Given the description of an element on the screen output the (x, y) to click on. 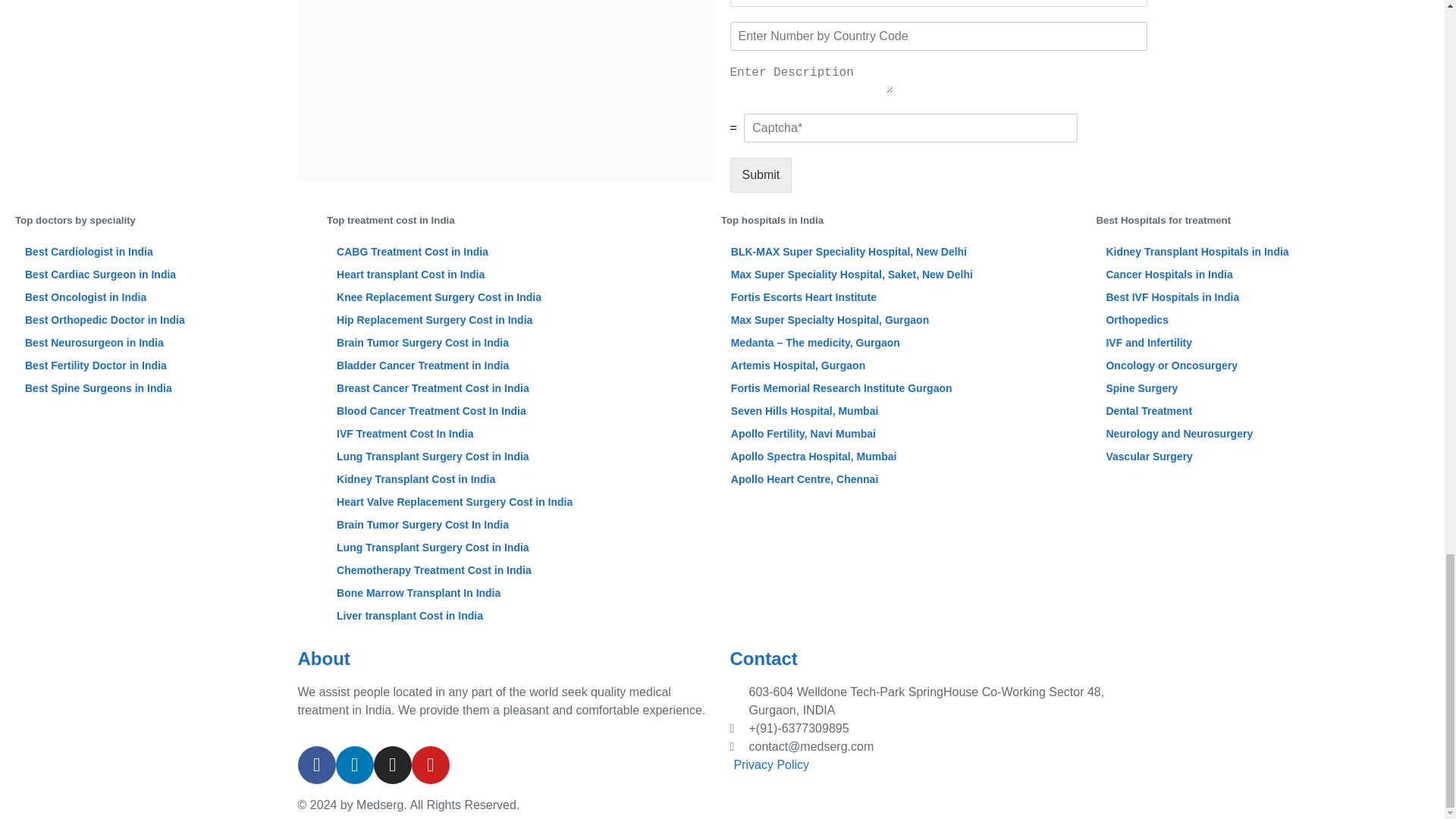
Best Hospitals for treatment (1262, 220)
About (505, 659)
Top hospitals in India (900, 220)
Top doctors by speciality (162, 220)
Contact (938, 659)
Top treatment cost in India (516, 220)
